Given the description of an element on the screen output the (x, y) to click on. 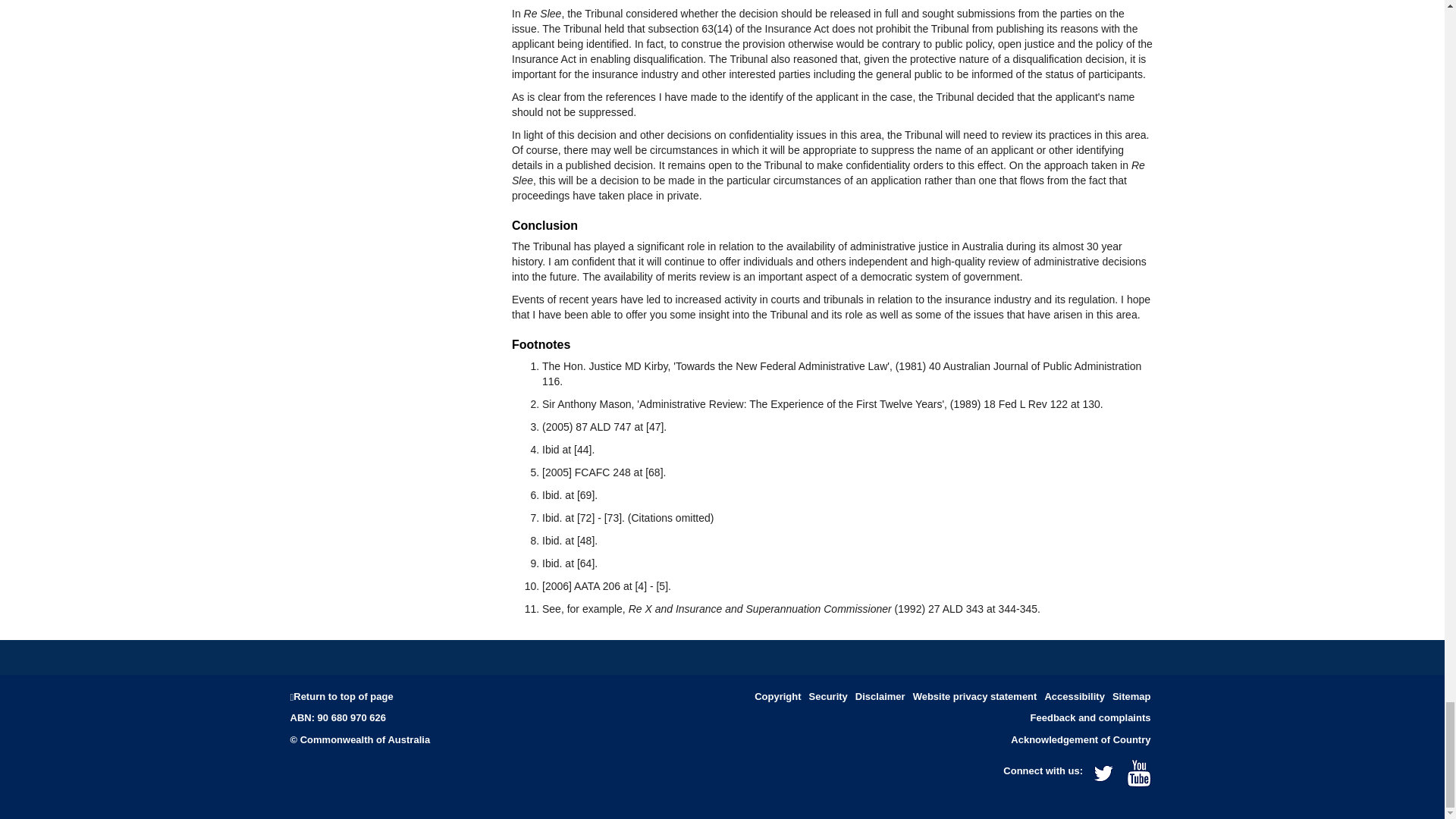
Security Notice for the AAT website. (828, 696)
Website privacy statement (974, 696)
Return to top of page (343, 696)
Disclaimer Notice for the AAT website. (880, 696)
Disclaimer (880, 696)
Sitemap (1131, 696)
Acknowledgement of Country (1080, 739)
Feedback and complaints (1090, 717)
Security (828, 696)
 Security Notice for the AAT website.  (974, 696)
Copyright (777, 696)
Accessibility (1074, 696)
